Given the description of an element on the screen output the (x, y) to click on. 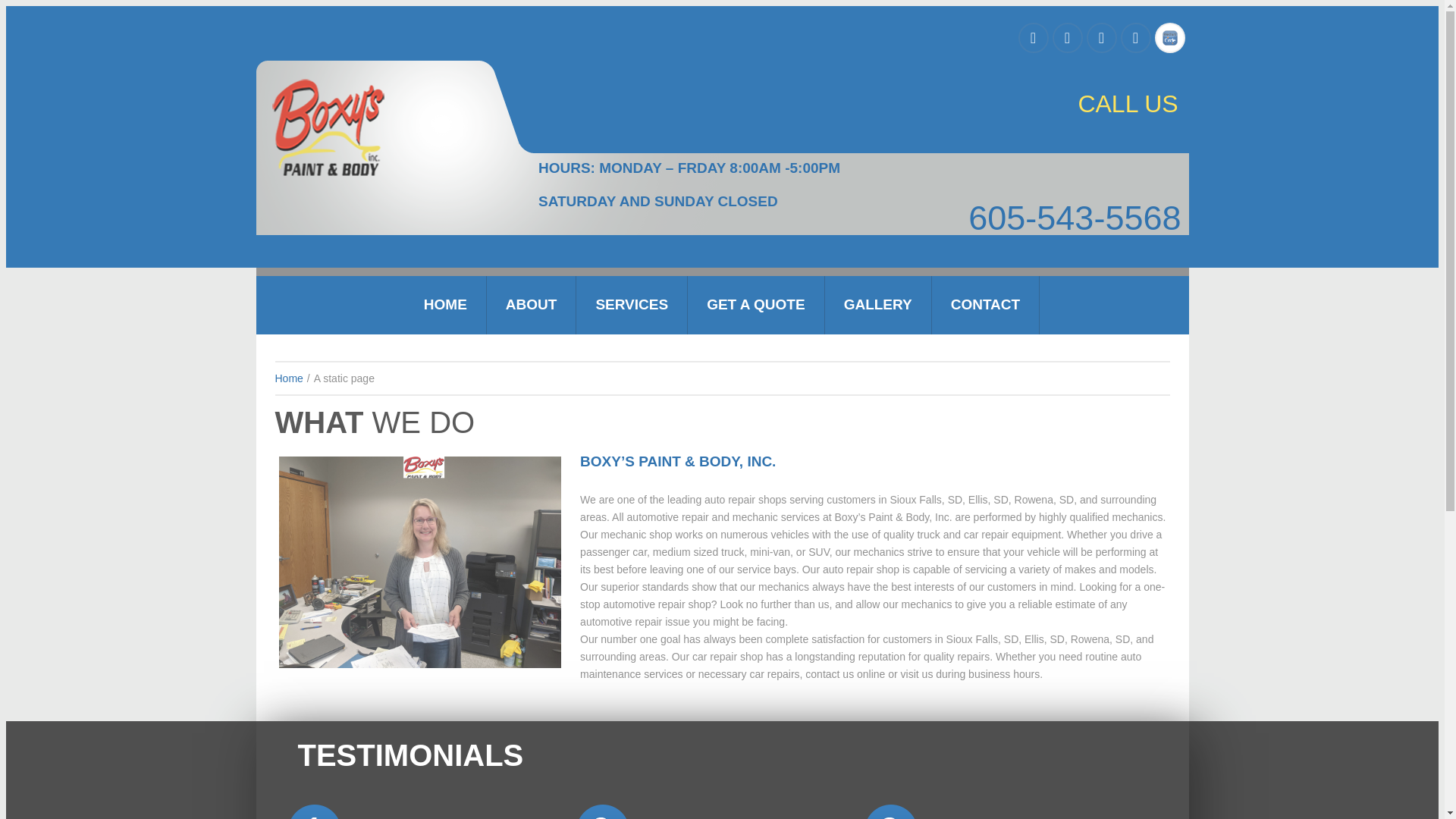
605-543-5568 (859, 217)
Home (288, 378)
CONTACT (985, 304)
HOME (445, 304)
ABOUT (531, 304)
Home (288, 378)
GET A QUOTE (755, 304)
GALLERY (878, 304)
SERVICES (631, 304)
